Given the description of an element on the screen output the (x, y) to click on. 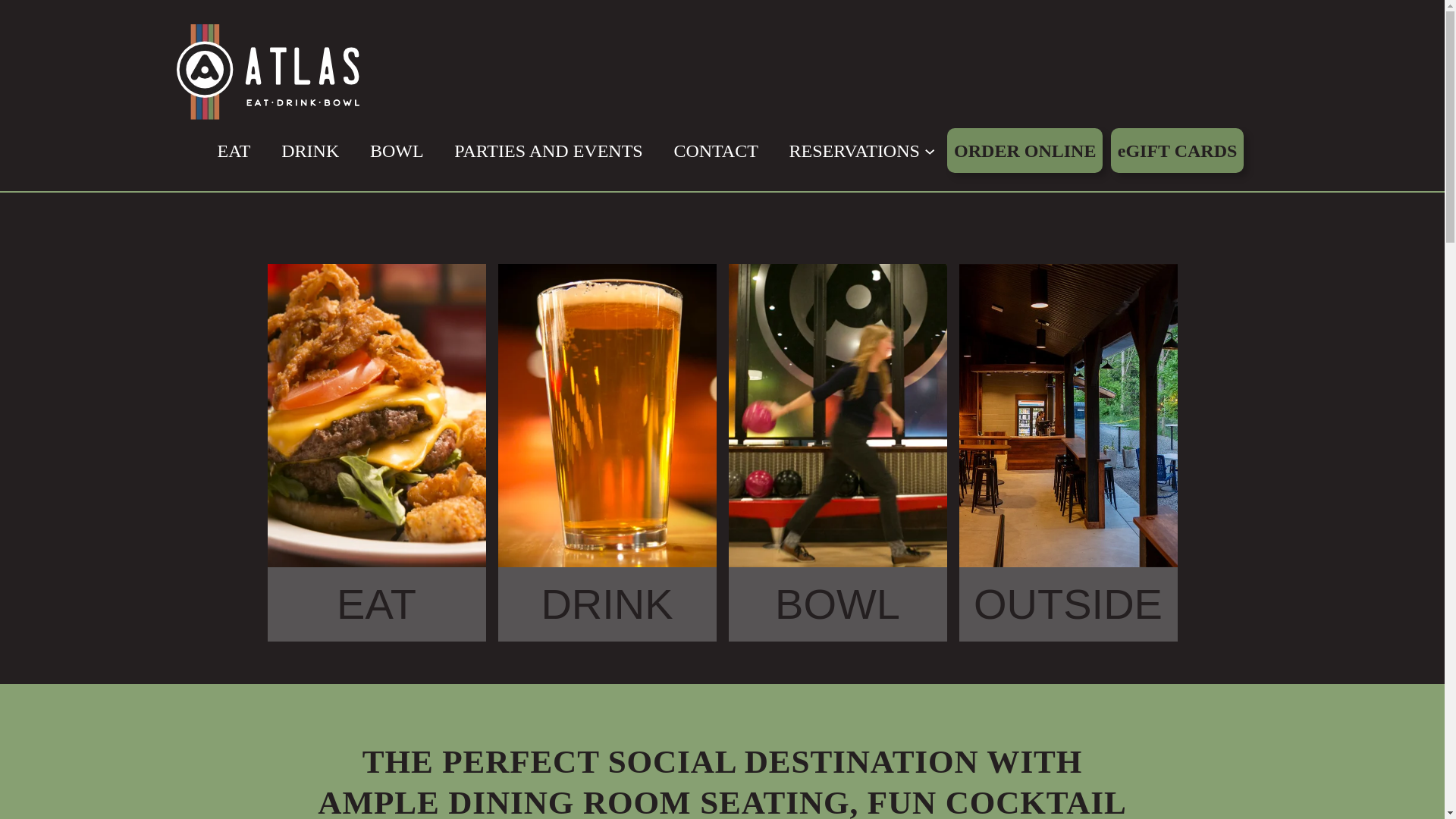
PARTIES AND EVENTS (548, 151)
BOWL (836, 603)
BOWL (396, 151)
CONTACT (714, 151)
EAT (233, 151)
EAT (376, 603)
eGIFT CARDS (1176, 150)
OUT (1018, 603)
DRINK (606, 603)
RESERVATIONS (854, 151)
